Given the description of an element on the screen output the (x, y) to click on. 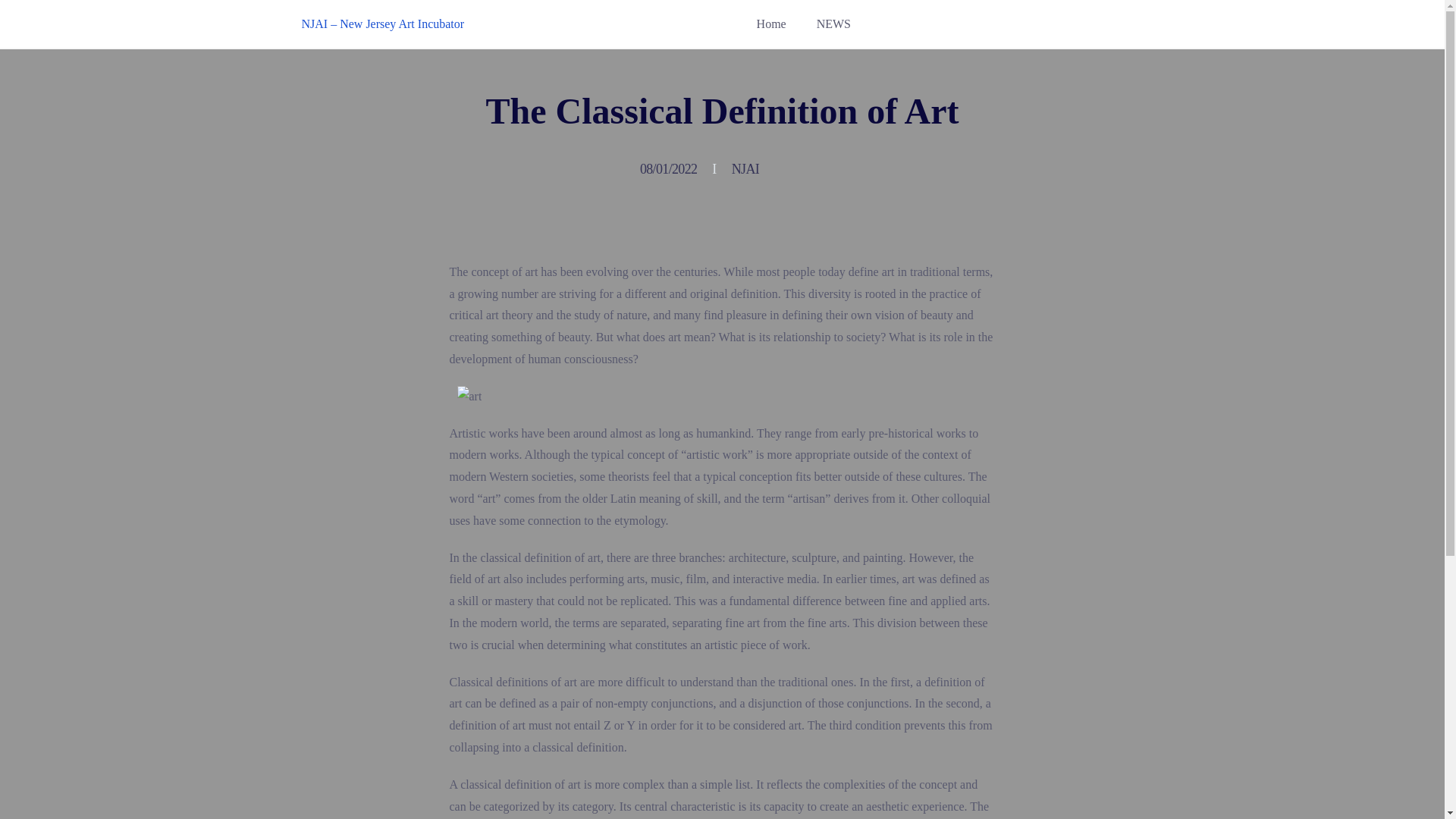
NJAI (753, 168)
Home (771, 24)
NEWS (833, 24)
